Given the description of an element on the screen output the (x, y) to click on. 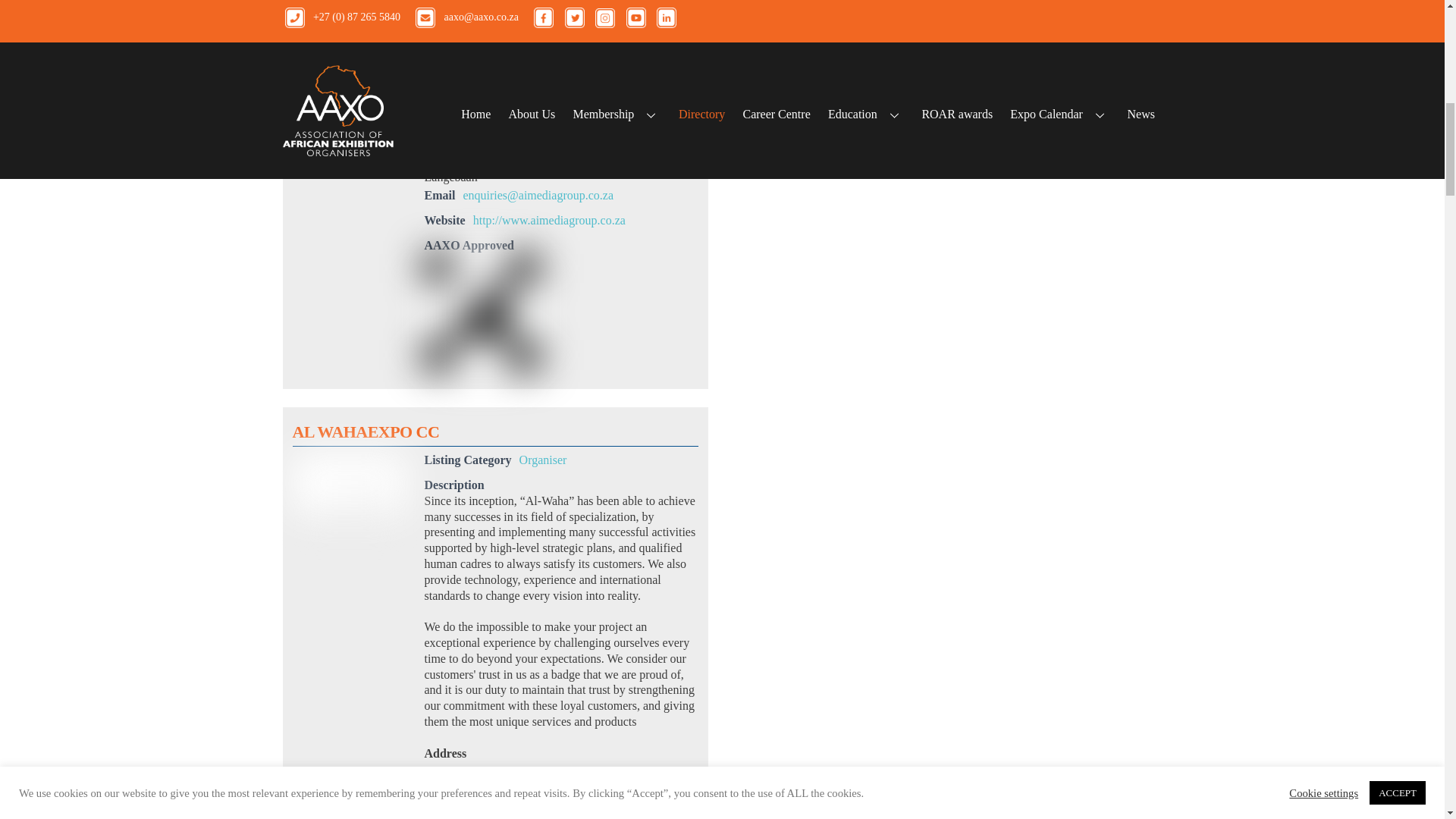
Submit (789, 75)
AI Media (349, 65)
Al WahaExpo cc (349, 483)
